Given the description of an element on the screen output the (x, y) to click on. 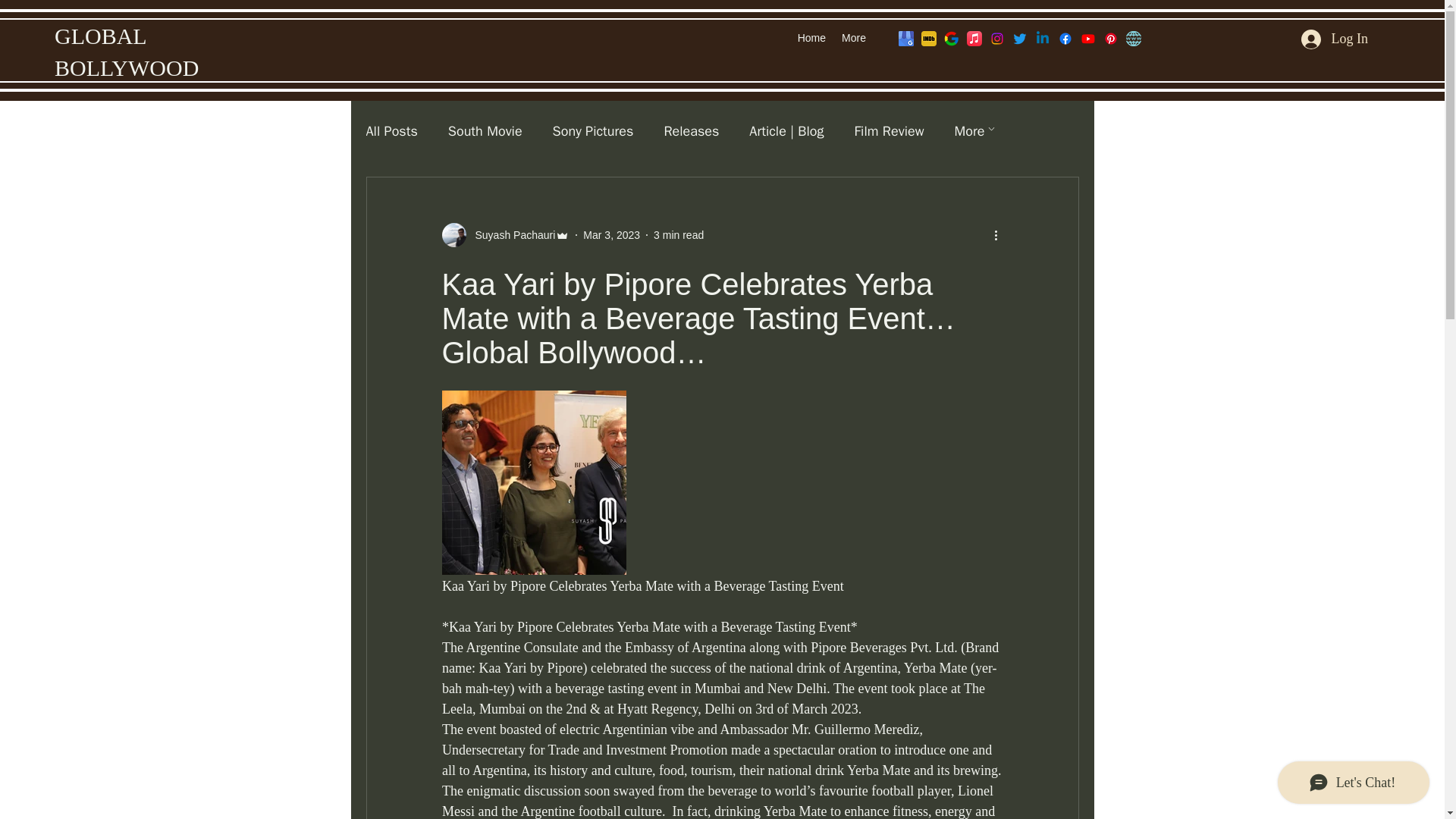
Log In (1334, 39)
Sony Pictures (593, 131)
Home (810, 37)
Mar 3, 2023 (611, 234)
Suyash Pachauri (509, 235)
Film Review (888, 131)
South Movie (485, 131)
All Posts (390, 131)
Releases (691, 131)
3 min read (678, 234)
Suyash Pachauri (505, 234)
